Given the description of an element on the screen output the (x, y) to click on. 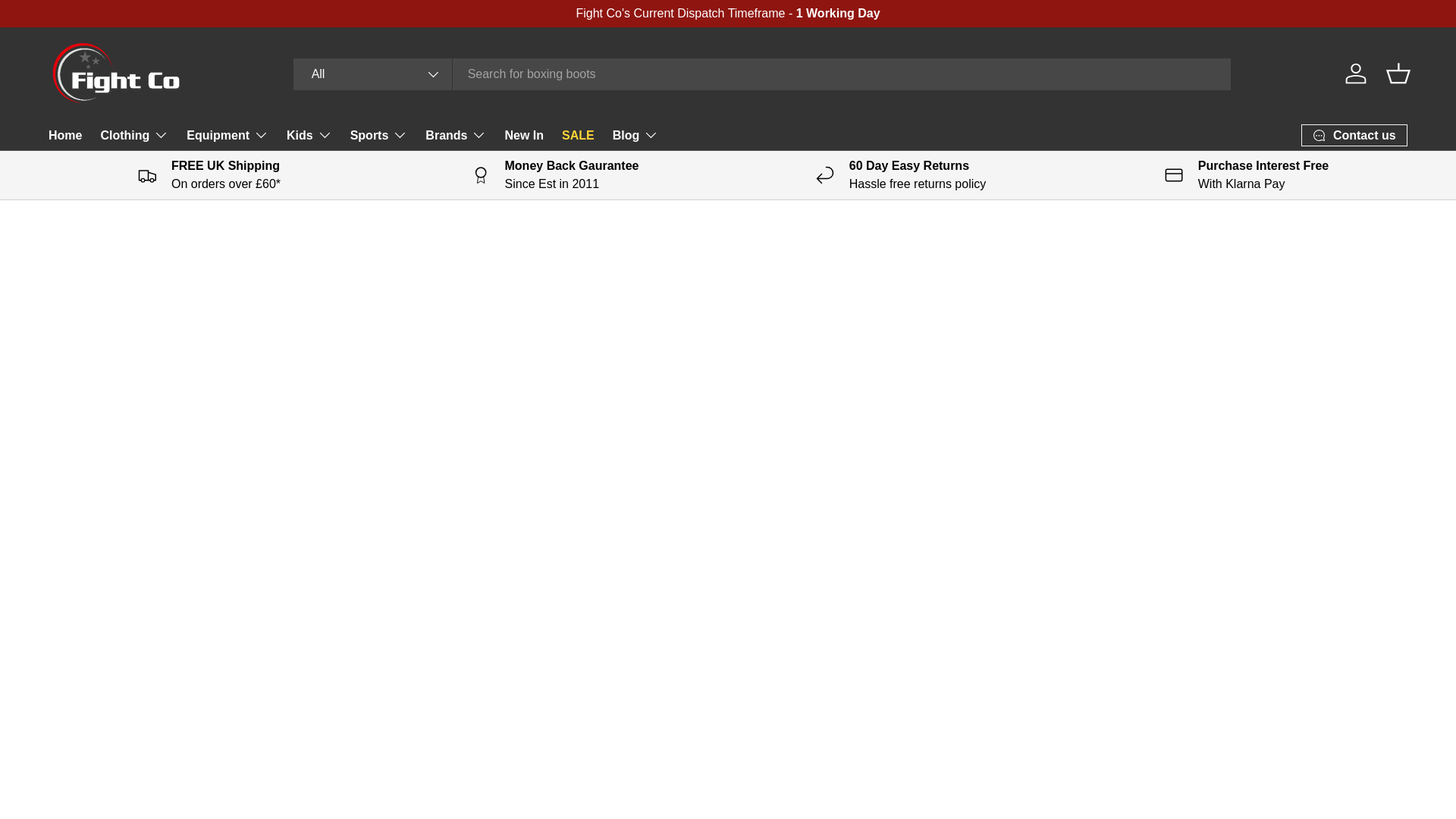
Clothing (134, 134)
Basket (1398, 73)
Home (64, 134)
SKIP TO CONTENT (68, 21)
Log in (1356, 73)
All (373, 73)
